Given the description of an element on the screen output the (x, y) to click on. 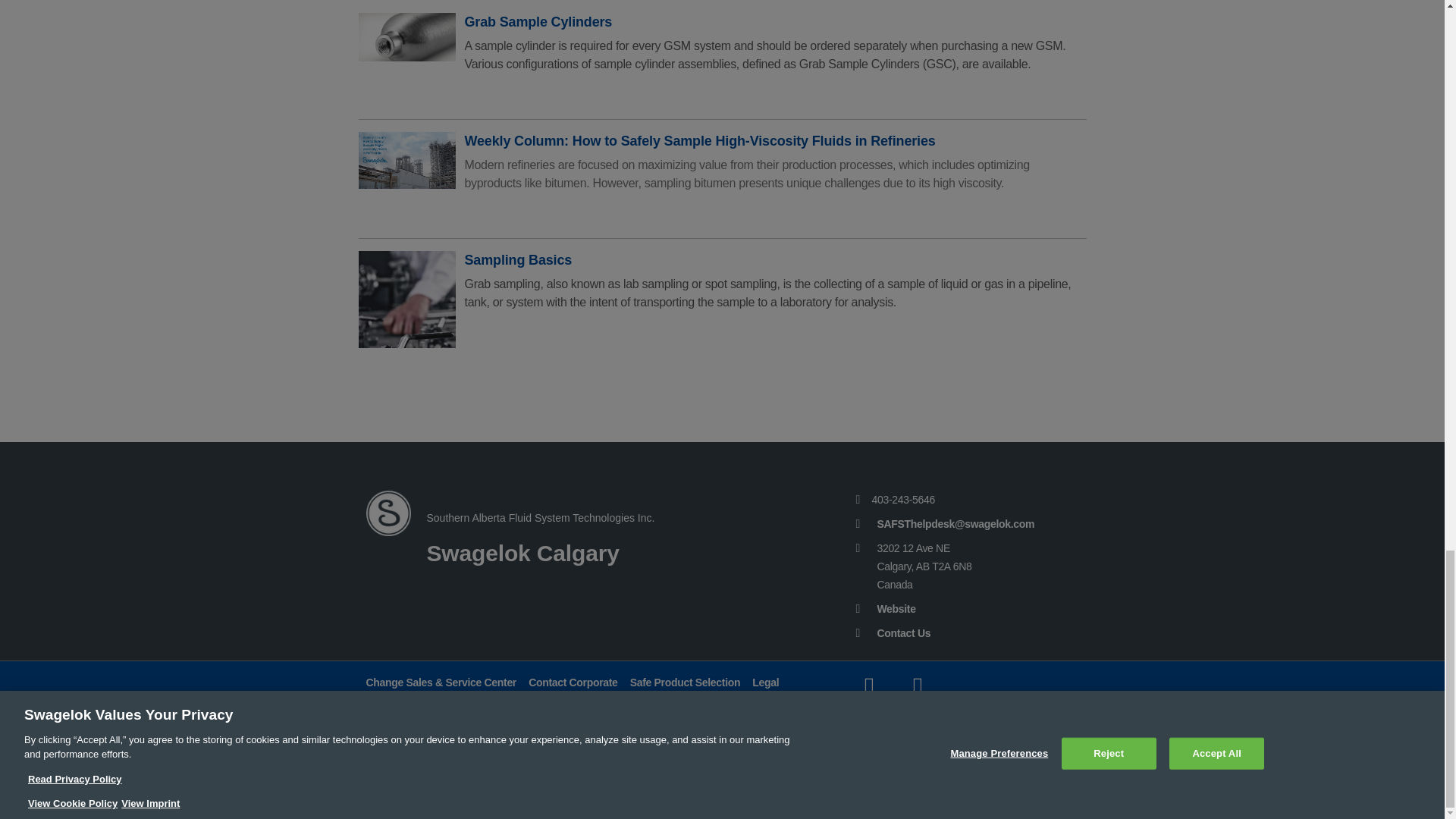
Sampling Basics (406, 299)
Grab Sample Cylinders (406, 61)
